Given the description of an element on the screen output the (x, y) to click on. 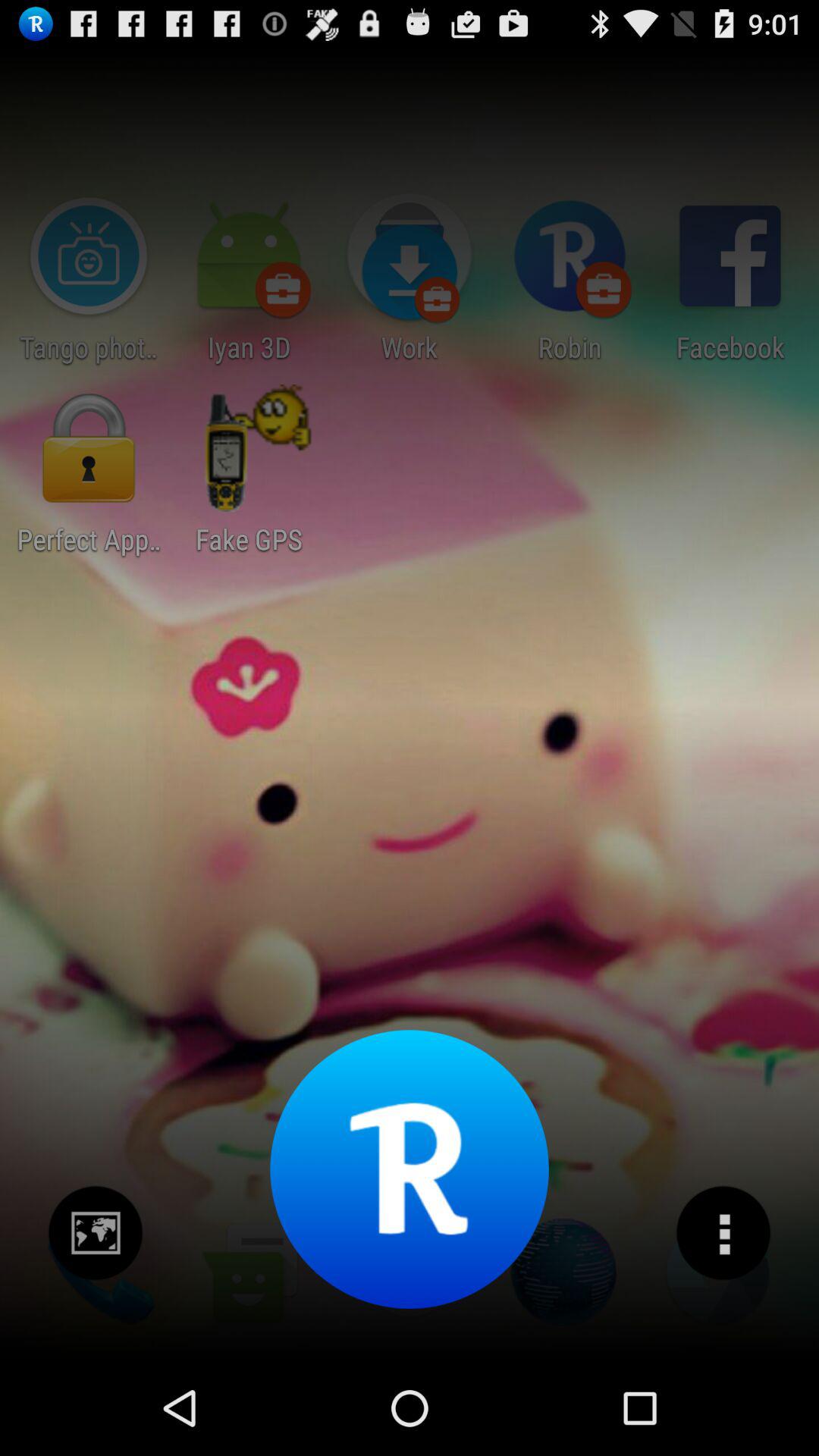
go to next (95, 1232)
